Given the description of an element on the screen output the (x, y) to click on. 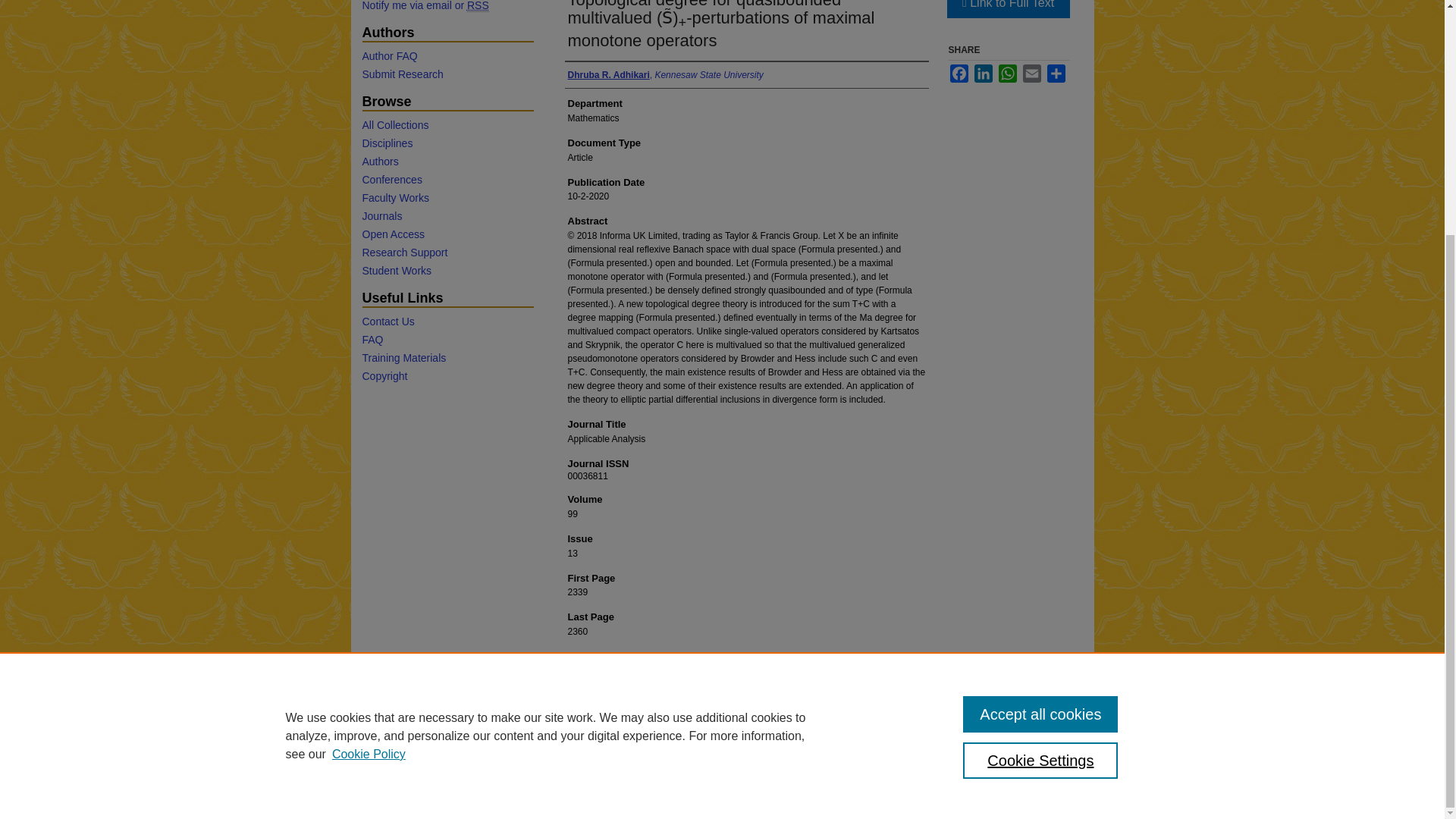
Submit Research (447, 73)
Link to Full Text (1007, 9)
Author FAQ (447, 55)
Share (1055, 73)
Browse by Disciplines (447, 143)
WhatsApp (1006, 73)
Notify me via email or RSS (447, 5)
Email (1031, 73)
Authors (447, 161)
Conferences (447, 179)
Research Support (447, 252)
Facebook (958, 73)
Link opens in new window (1007, 9)
Browse by All Collections (447, 124)
Author FAQ (447, 55)
